Given the description of an element on the screen output the (x, y) to click on. 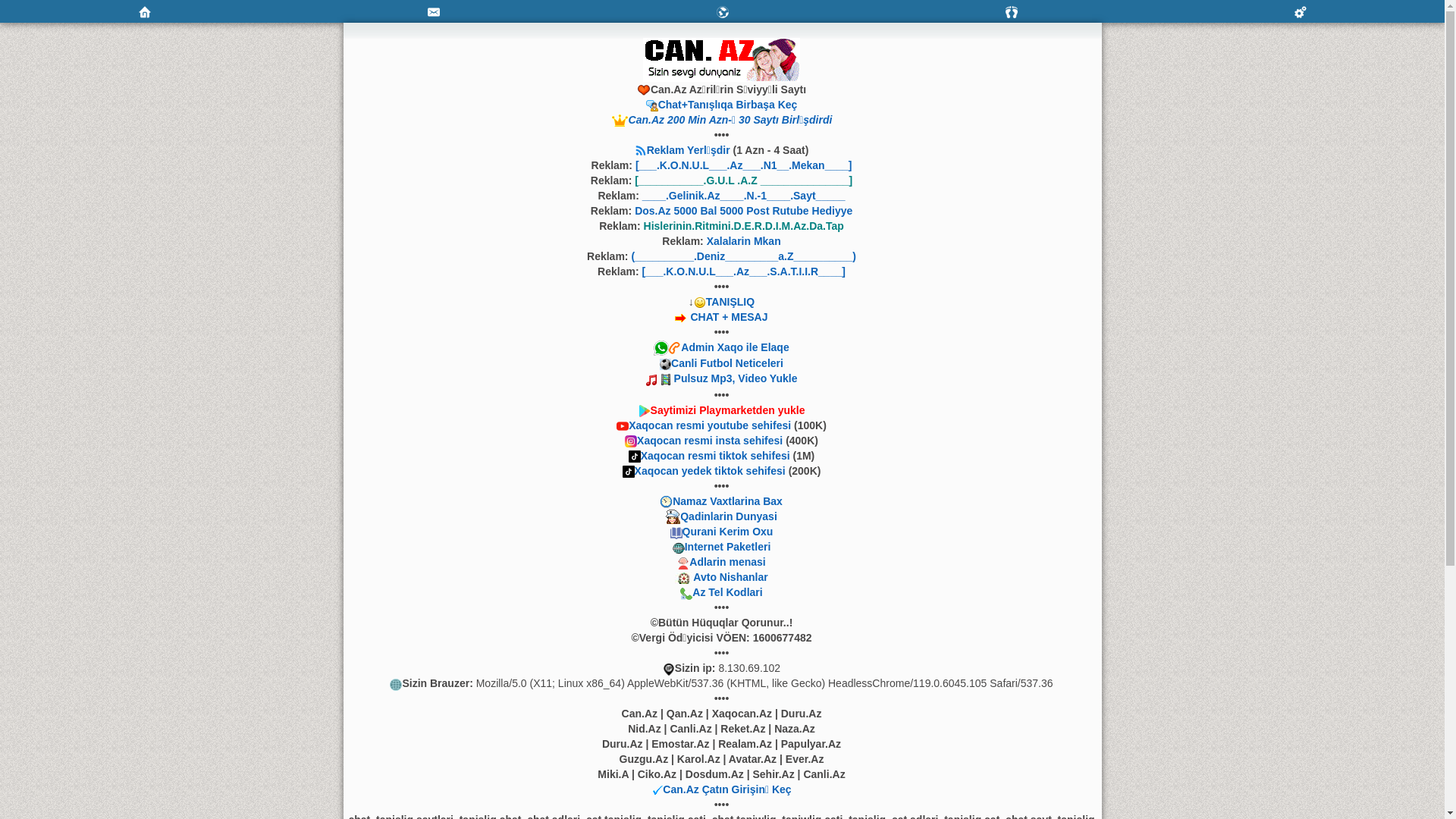
Xalalarin Mkan Element type: text (743, 241)
Mektublar Element type: hover (721, 12)
Xaqocan resmi tiktok sehifesi Element type: text (715, 455)
Namaz Vaxtlarina Bax Element type: text (727, 501)
Admin Xaqo ile Elaqe Element type: text (734, 347)
CHAT + MESAJ Element type: text (728, 316)
Xaqocan resmi youtube sehifesi Element type: text (709, 425)
Hislerinin.Ritmini.D.E.R.D.I.M.Az.Da.Tap Element type: text (743, 225)
Saytimizi Playmarketden yukle Element type: text (727, 410)
Qurani Kerim Oxu Element type: text (727, 531)
Xaqocan resmi insta sehifesi Element type: text (709, 440)
Qonaqlar Element type: hover (1011, 12)
[___________.G.U.L .A.Z _______________] Element type: text (743, 180)
Qonaqlar Element type: hover (1010, 11)
Qadinlarin Dunyasi Element type: text (728, 516)
Canli Futbol Neticeleri Element type: text (727, 363)
Mesajlar Element type: hover (433, 12)
Adlarin menasi Element type: text (727, 561)
[___.K.O.N.U.L___.Az___.N1__.Mekan____] Element type: text (743, 165)
Avto Nishanlar Element type: text (730, 577)
Ana Sehife Element type: hover (144, 11)
Dos.Az 5000 Bal 5000 Post Rutube Hediyye Element type: text (743, 210)
Xaqocan yedek tiktok sehifesi Element type: text (709, 470)
Mektublar Element type: hover (721, 11)
Pulsuz Mp3, Video Yukle Element type: text (735, 378)
Internet Paketleri Element type: text (727, 546)
____.Gelinik.Az____.N.-1____.Sayt_____ Element type: text (743, 195)
[___.K.O.N.U.L___.Az___.S.A.T.I.I.R____] Element type: text (742, 271)
Az Tel Kodlari Element type: text (727, 592)
Ana Sehife Element type: hover (144, 12)
(__________.Deniz_________a.Z__________) Element type: text (743, 256)
Mesajlar Element type: hover (432, 11)
